Given the description of an element on the screen output the (x, y) to click on. 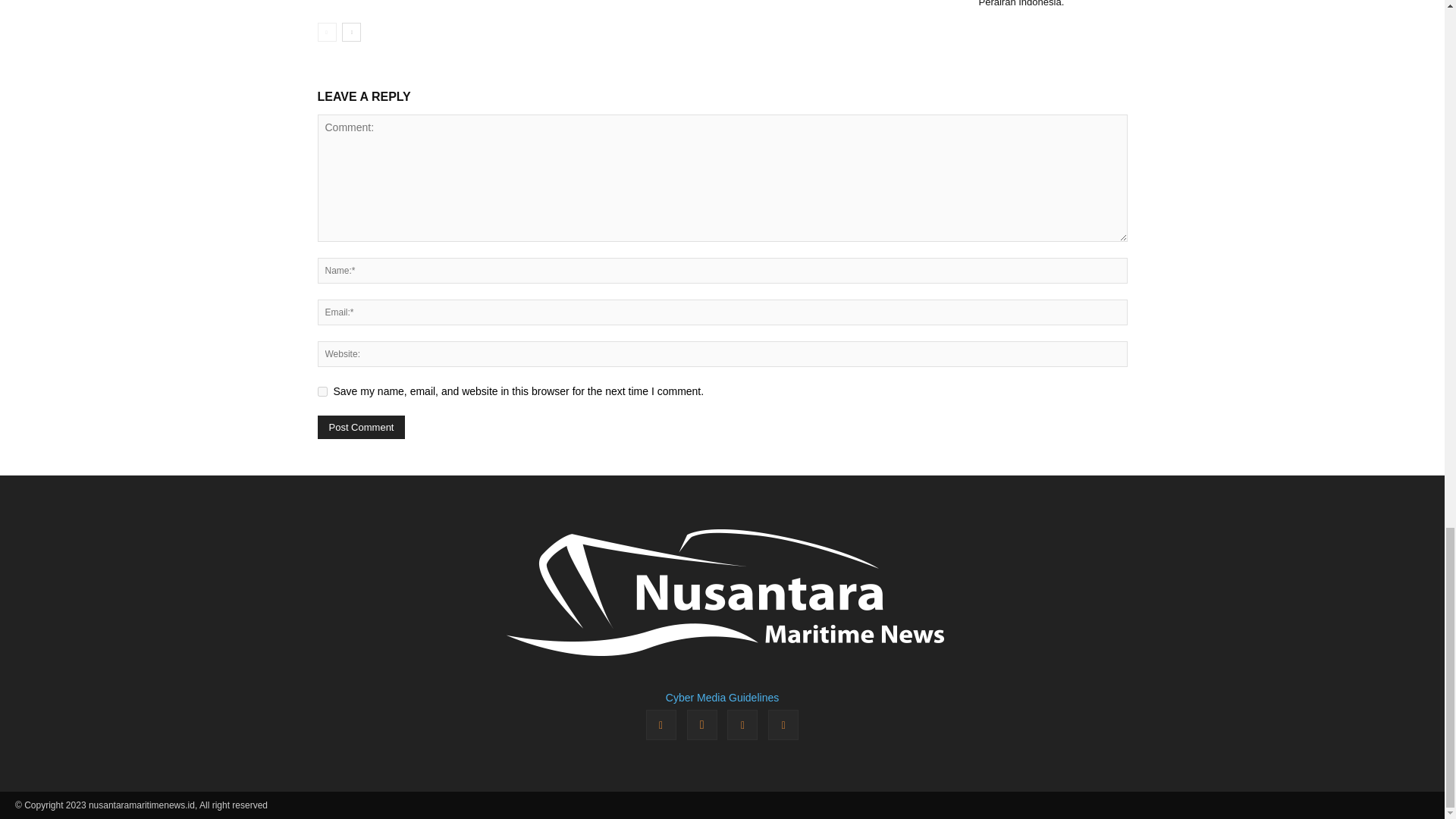
yes (321, 391)
Post Comment (360, 426)
